Given the description of an element on the screen output the (x, y) to click on. 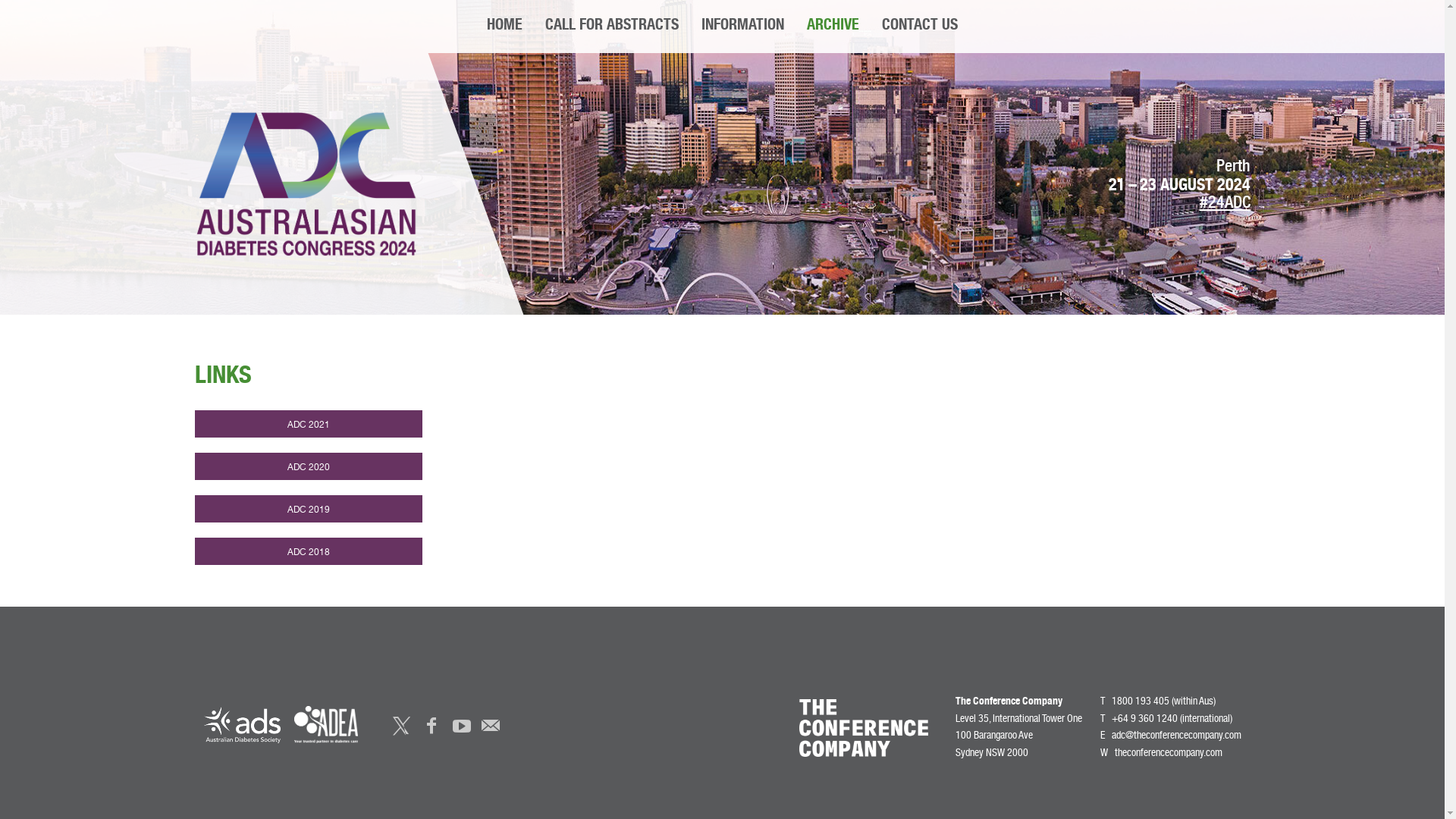
adc@theconferencecompany.com Element type: text (1176, 736)
1800 193 405 Element type: text (1140, 701)
ADC 2018 Element type: text (307, 550)
ARCHIVE Element type: text (832, 26)
ADC 2020 Element type: text (307, 466)
CONTACT US Element type: text (919, 26)
Australasian Diabetes Congress 2024 Element type: text (305, 183)
ADC 2019 Element type: text (307, 508)
HOME Element type: text (504, 26)
INFORMATION Element type: text (742, 26)
CALL FOR ABSTRACTS Element type: text (611, 26)
+64 9 360 1240 Element type: text (1144, 719)
theconferencecompany.com Element type: text (1168, 752)
#24ADC Element type: text (1224, 203)
ADC 2021 Element type: text (307, 423)
